Given the description of an element on the screen output the (x, y) to click on. 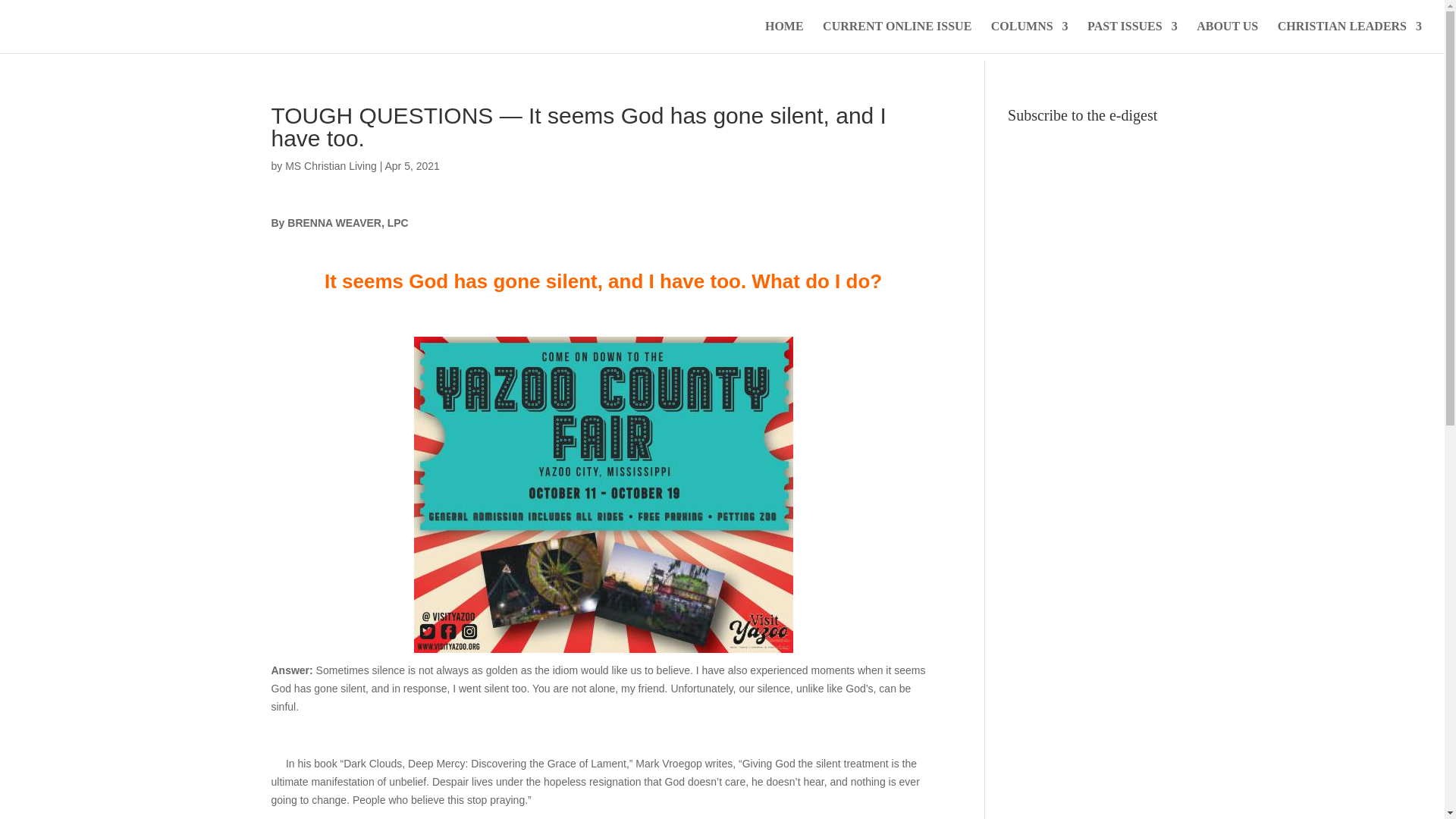
ABOUT US (1226, 37)
Posts by MS Christian Living (331, 165)
PAST ISSUES (1132, 37)
CURRENT ONLINE ISSUE (896, 37)
HOME (784, 37)
COLUMNS (1029, 37)
